Given the description of an element on the screen output the (x, y) to click on. 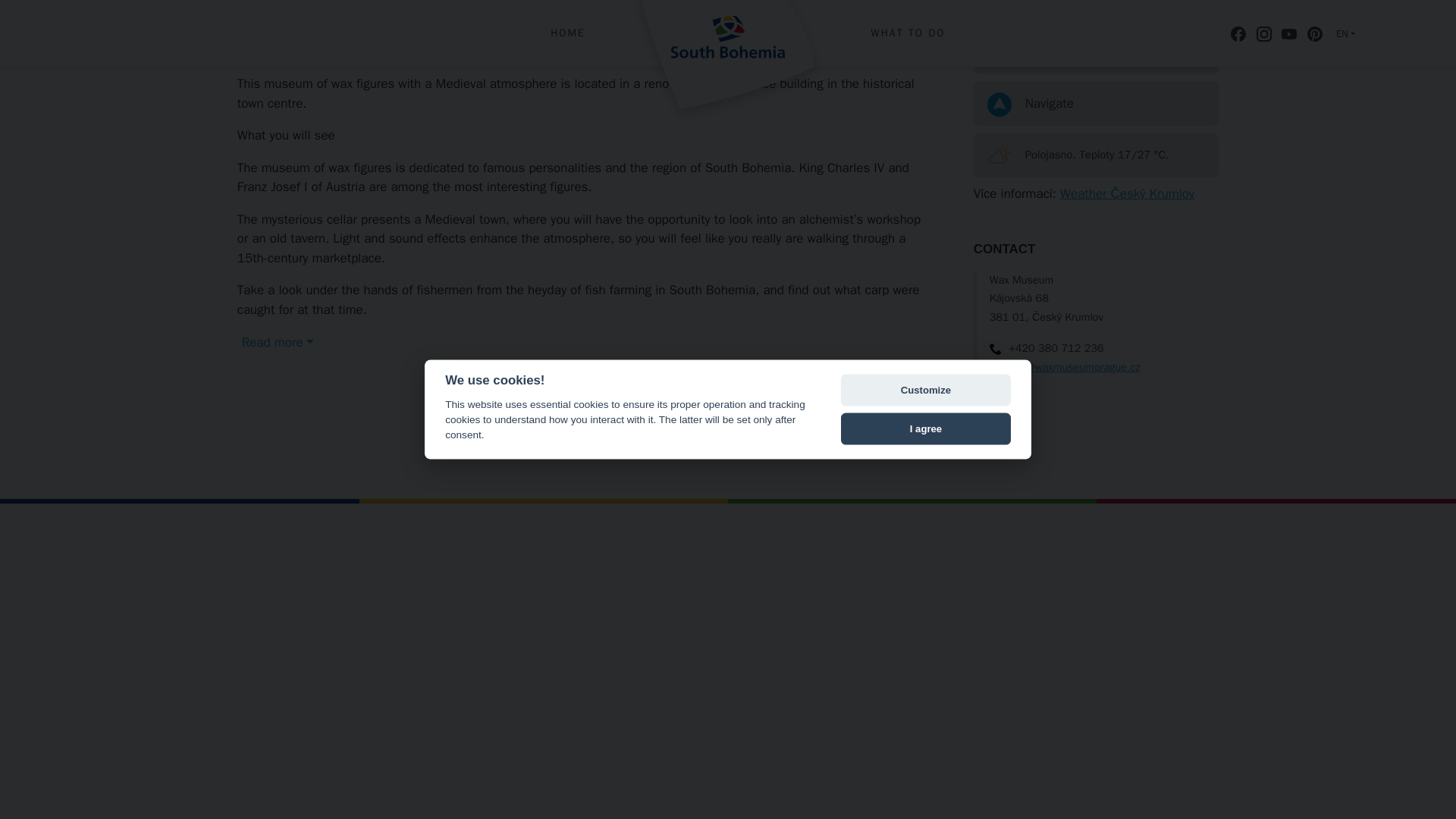
For children (274, 4)
When it rains (355, 4)
Show on a map (1097, 52)
Navigate (1097, 103)
monuments and culture (467, 4)
